Given the description of an element on the screen output the (x, y) to click on. 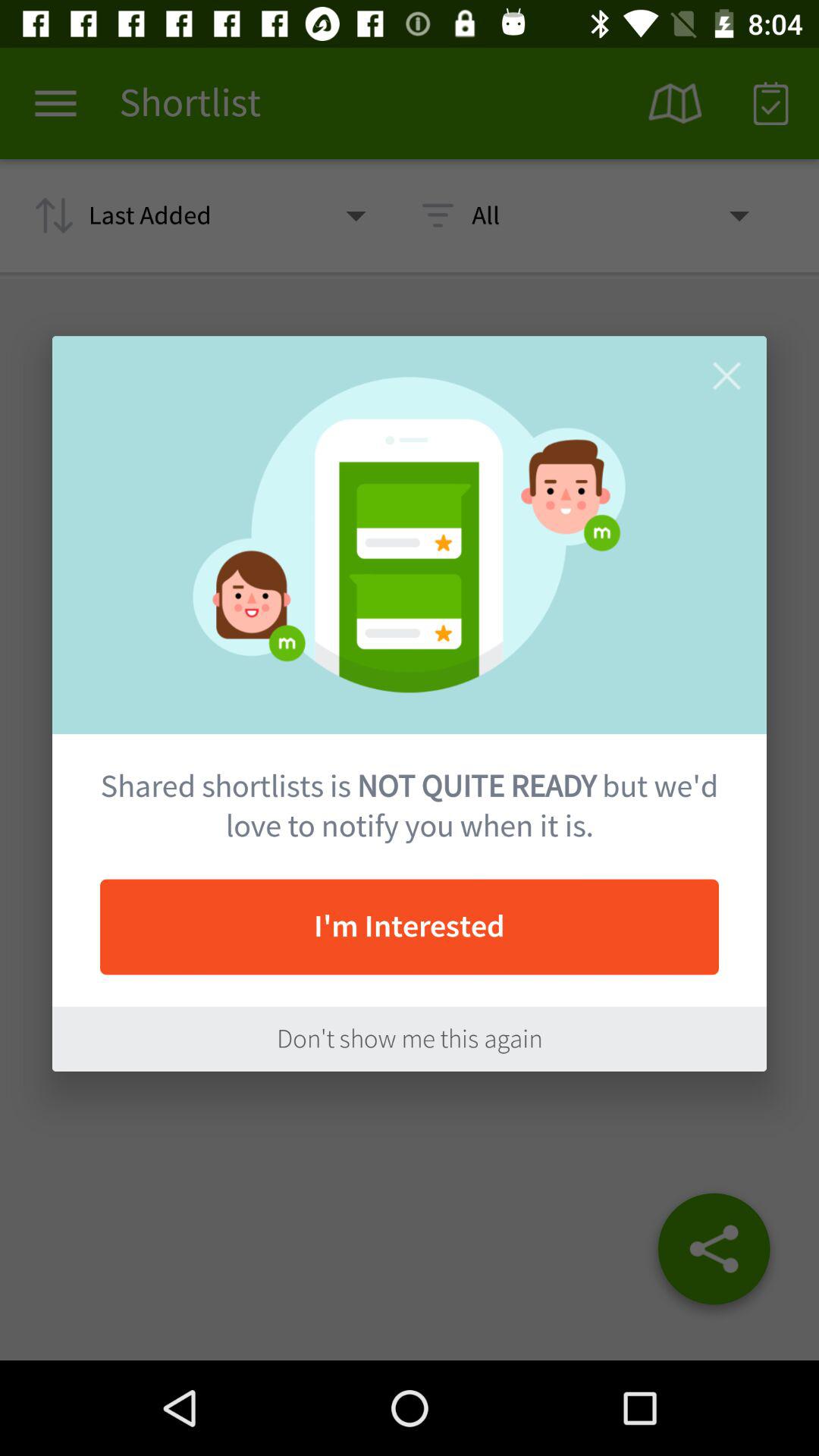
select the i'm interested (409, 926)
